Given the description of an element on the screen output the (x, y) to click on. 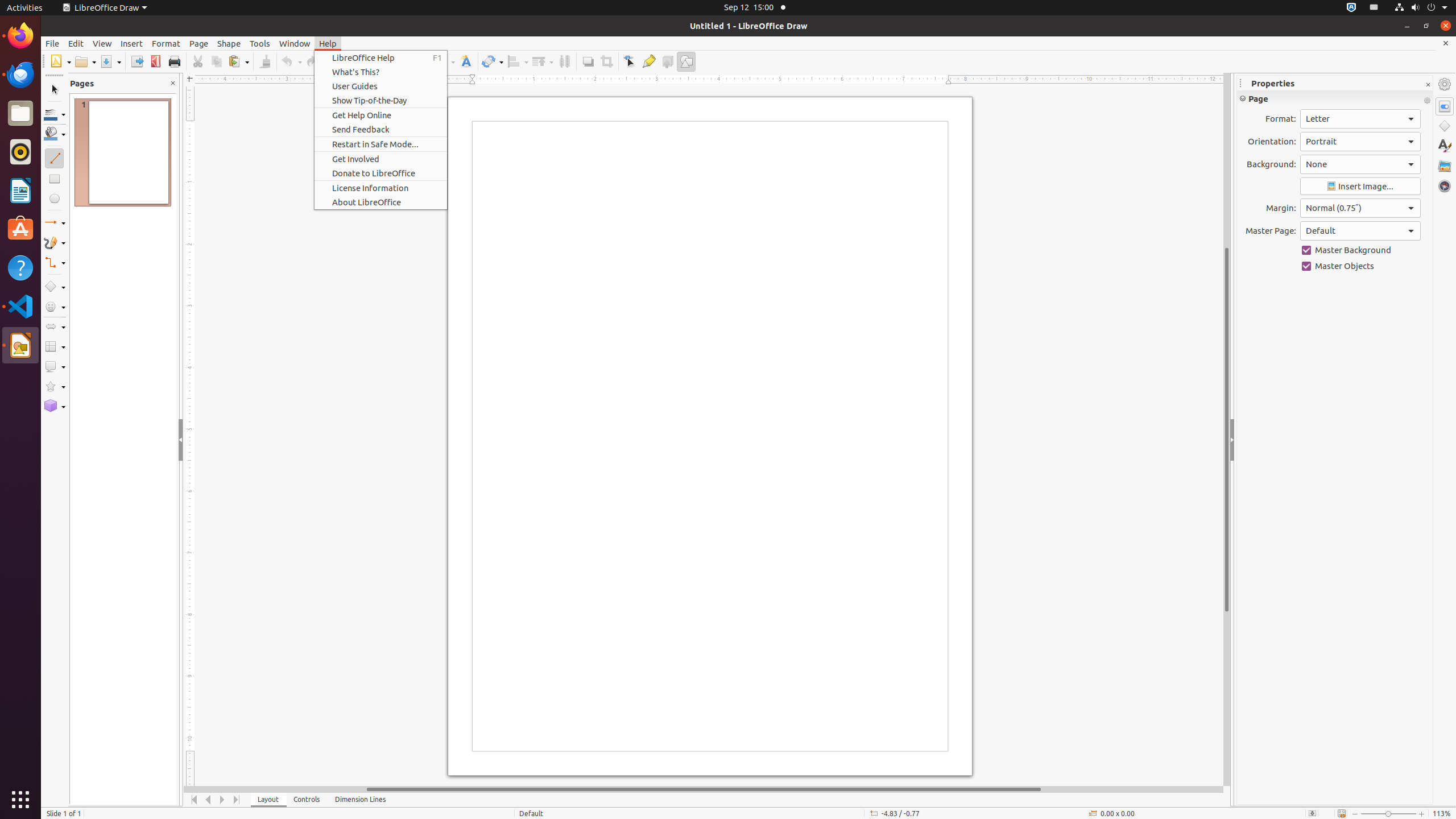
Properties Element type: radio-button (1444, 106)
Close Sidebar Deck Element type: push-button (1427, 84)
About LibreOffice Element type: menu-item (380, 202)
LibreOffice Draw Element type: push-button (20, 344)
Window Element type: menu (294, 43)
